Given the description of an element on the screen output the (x, y) to click on. 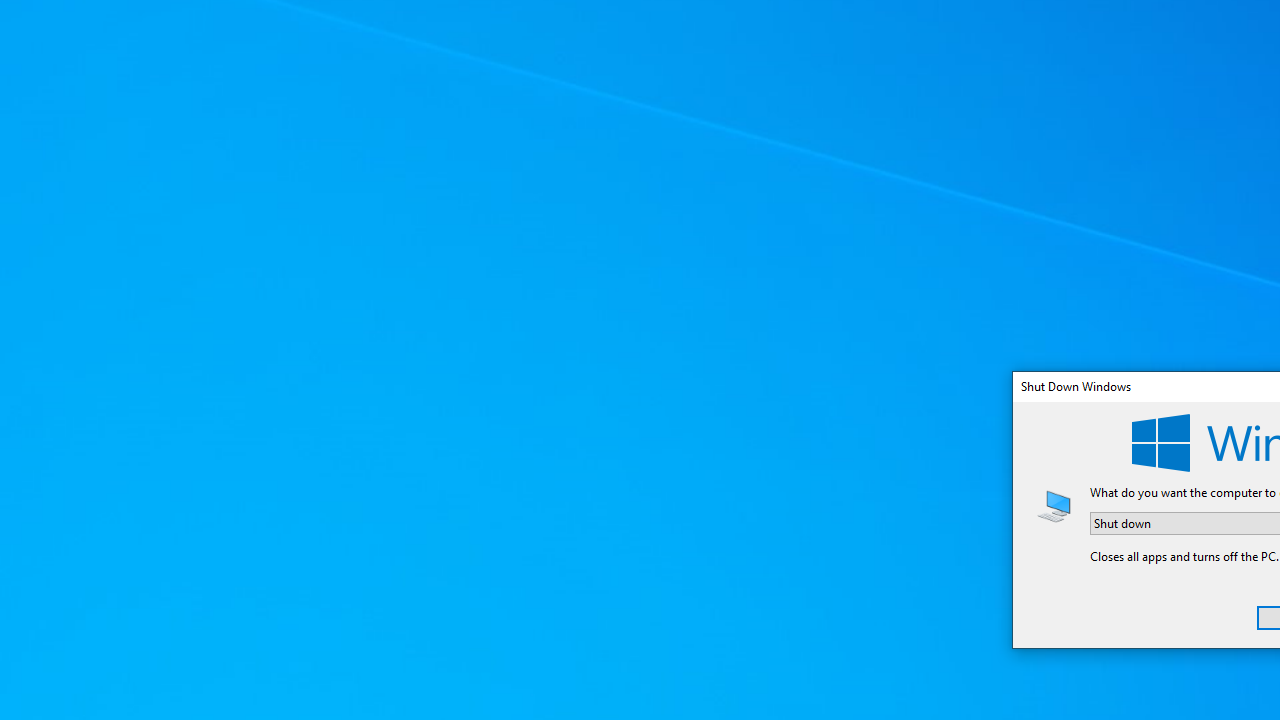
AutomationID: 2027 (1053, 505)
